Given the description of an element on the screen output the (x, y) to click on. 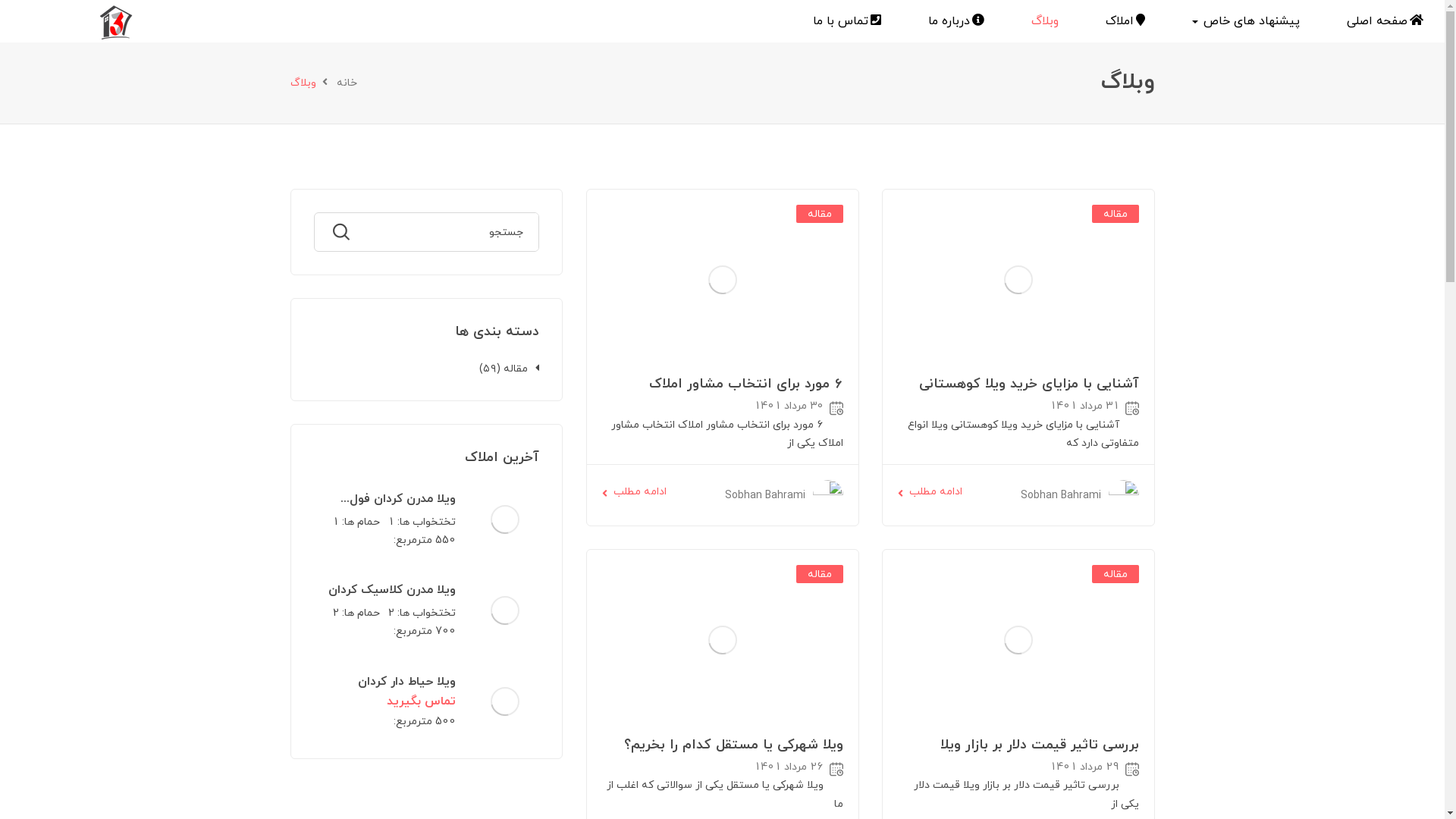
Sobhan Bahrami Element type: text (1060, 494)
Sobhan Bahrami Element type: text (764, 494)
